Given the description of an element on the screen output the (x, y) to click on. 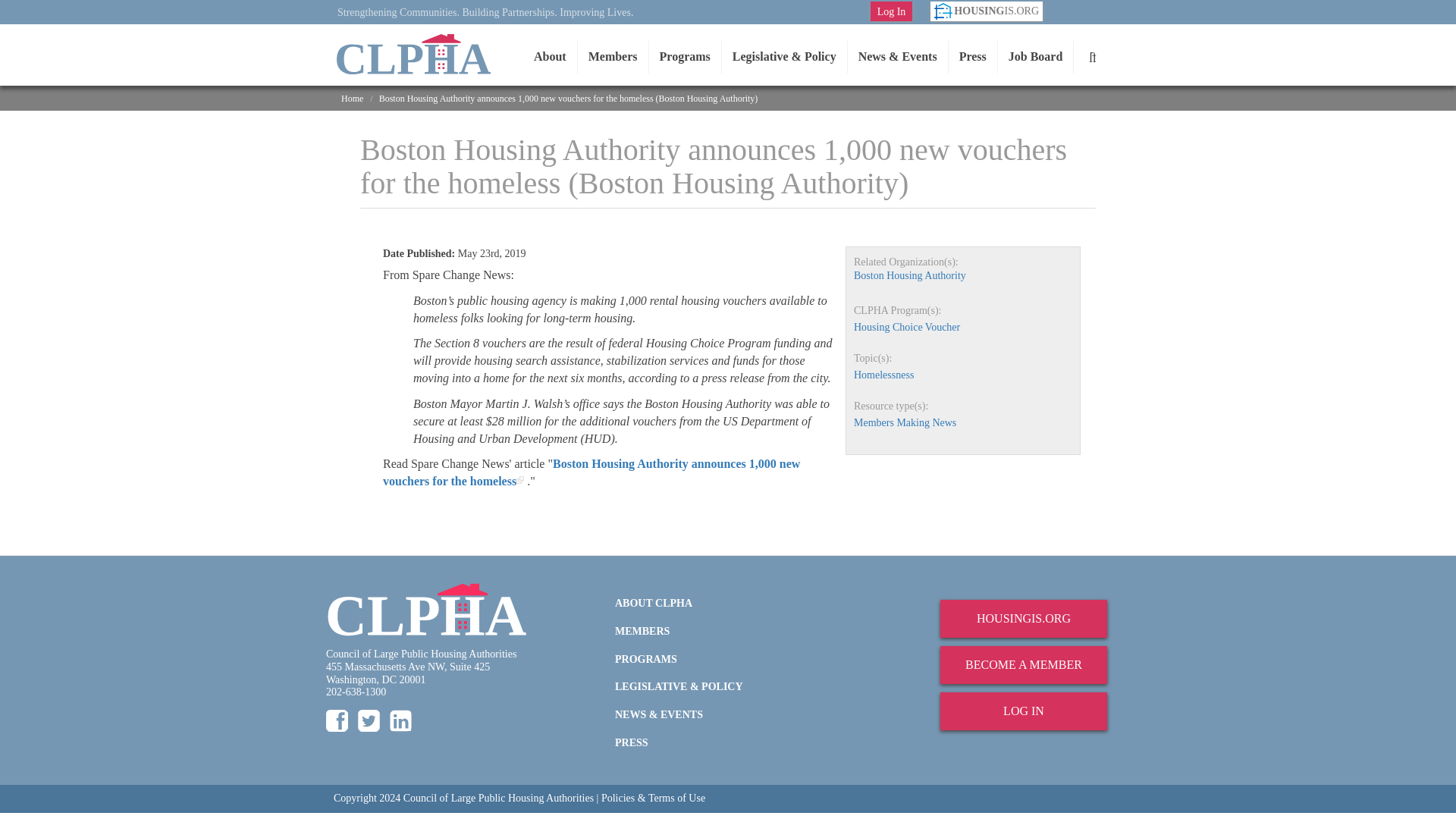
Home (413, 54)
Search (1093, 56)
